Given the description of an element on the screen output the (x, y) to click on. 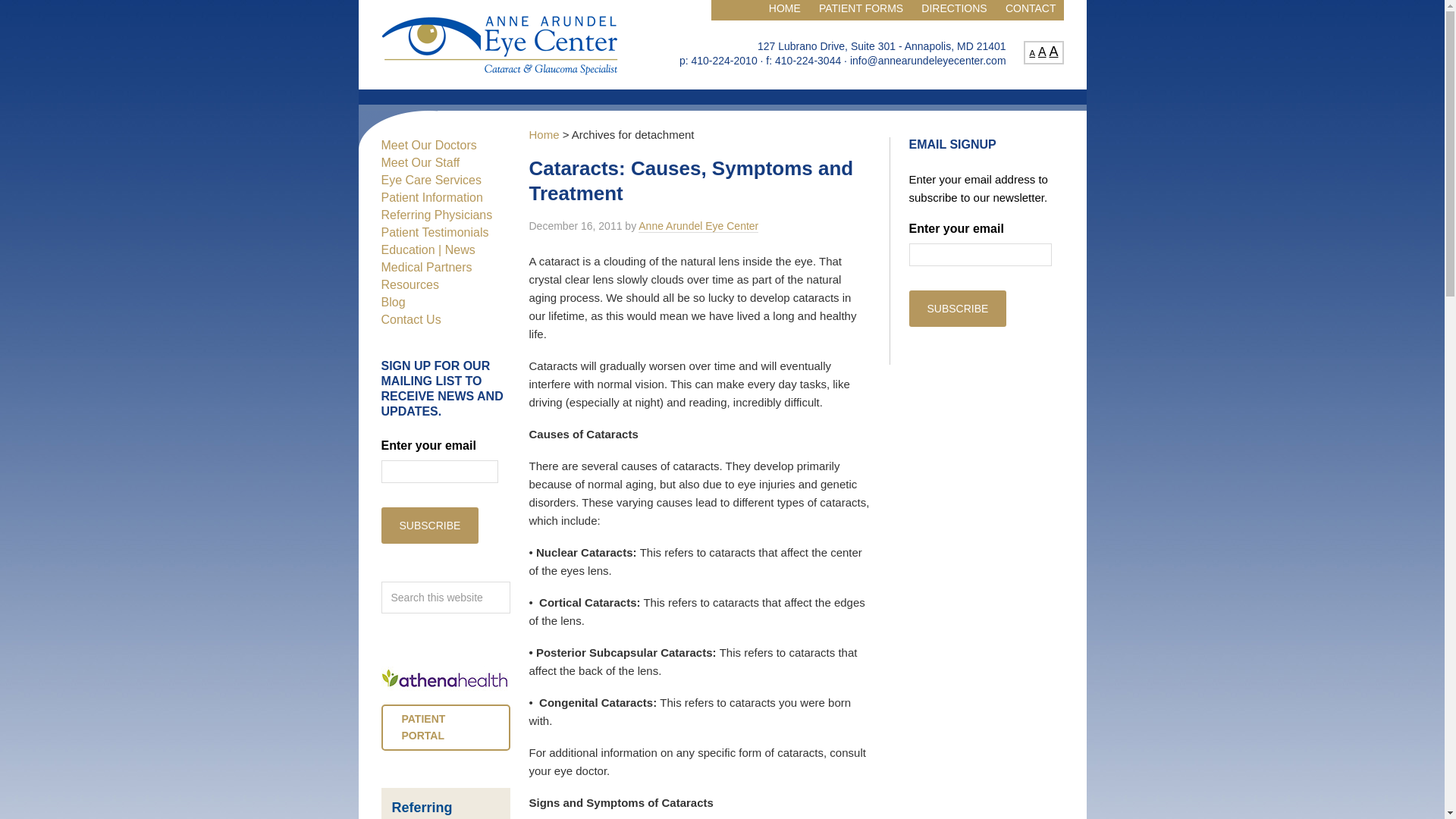
Cataracts: Causes, Symptoms and Treatment (691, 180)
HOME (784, 10)
PATIENT FORMS (860, 10)
Subscribe (429, 524)
DIRECTIONS (954, 10)
ANNE ARUNDEL EYE CENTER (498, 44)
Home (544, 133)
p: 410-224-2010 (718, 60)
Anne Arundel Eye Center (698, 226)
CONTACT (1030, 10)
Subscribe (957, 308)
